Given the description of an element on the screen output the (x, y) to click on. 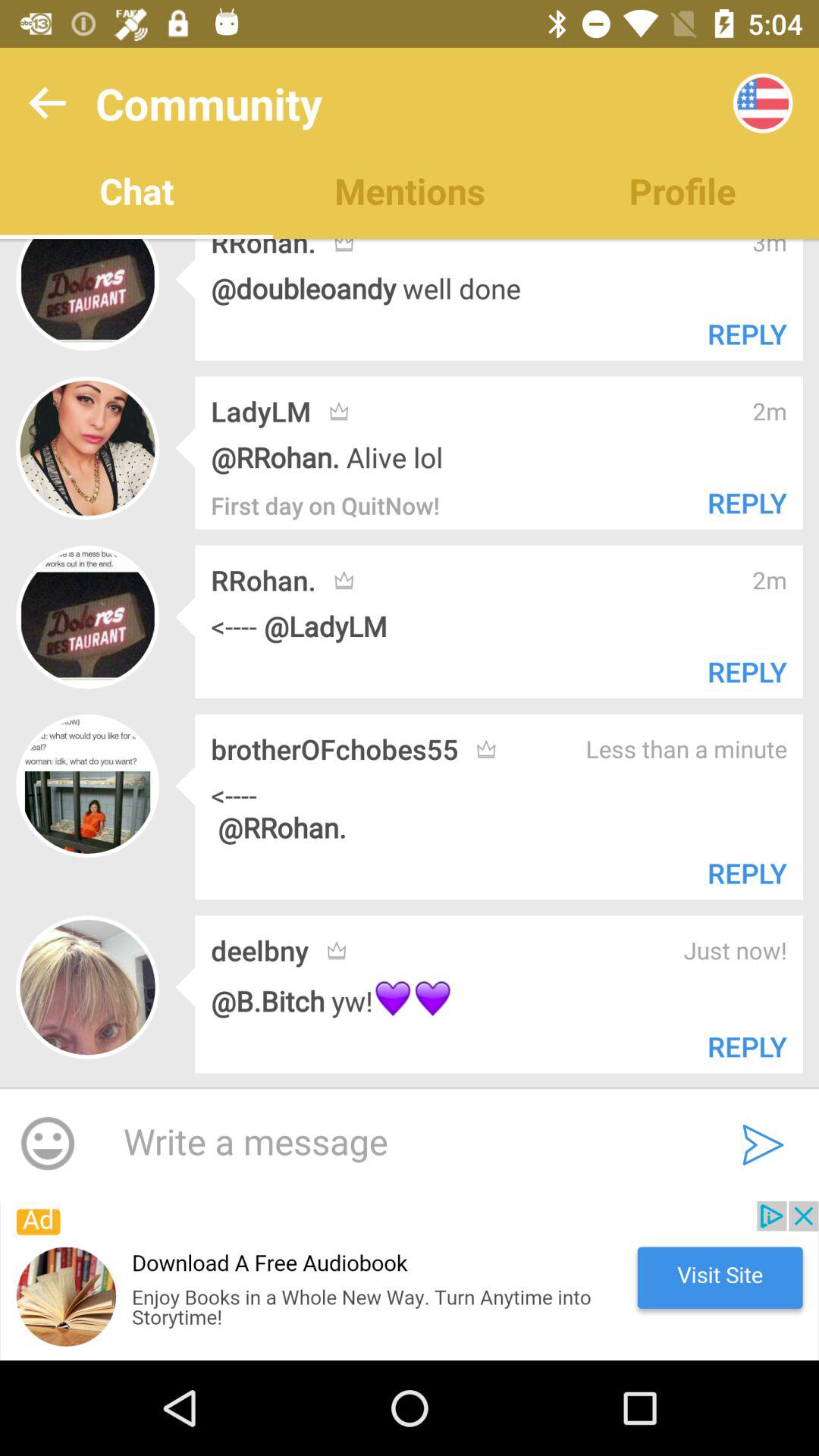
choose emoji (47, 1144)
